Given the description of an element on the screen output the (x, y) to click on. 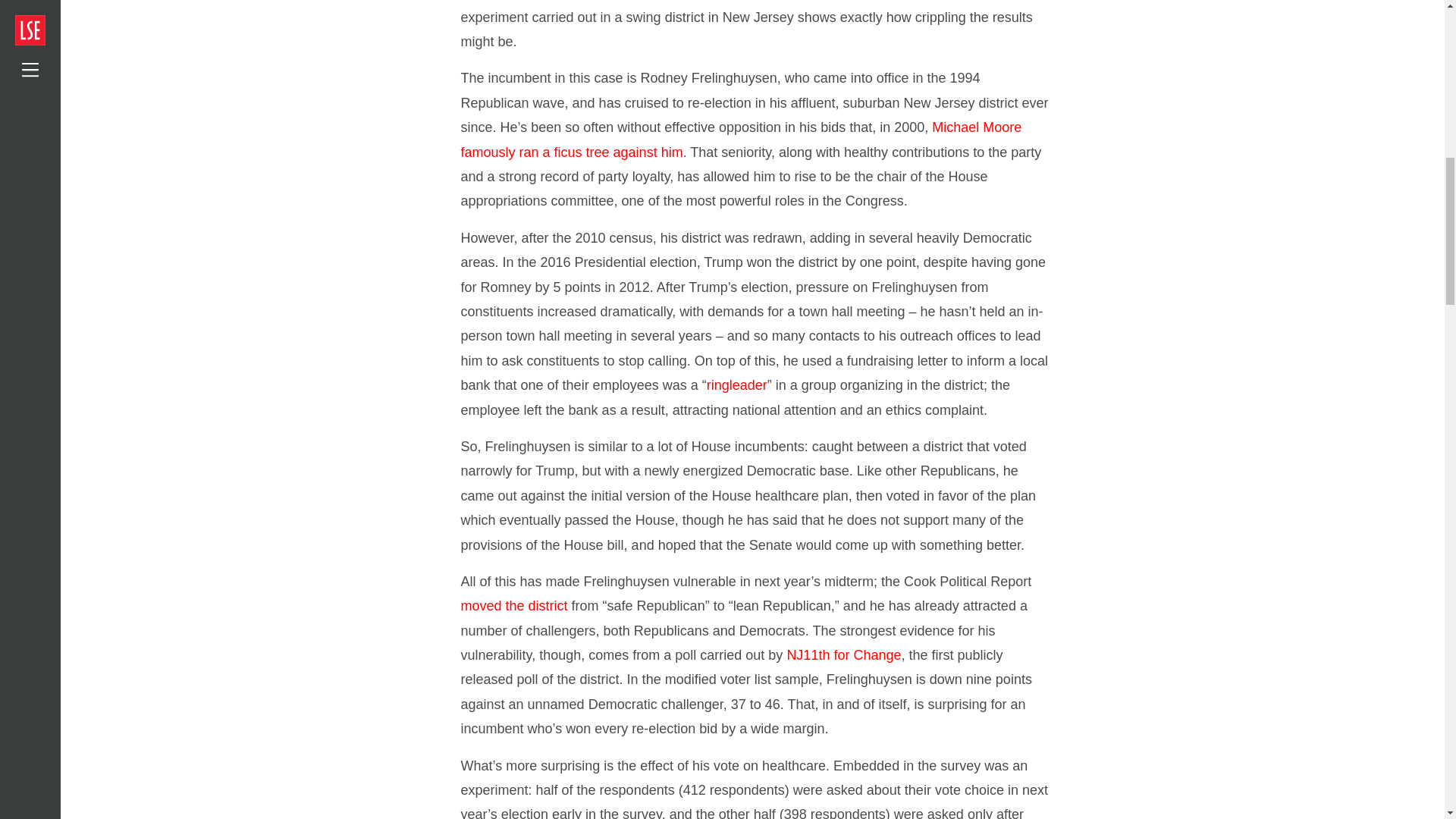
Michael Moore famously ran a ficus tree against him (741, 138)
ringleader (736, 385)
moved the district (514, 605)
NJ11th for Change (843, 654)
